Given the description of an element on the screen output the (x, y) to click on. 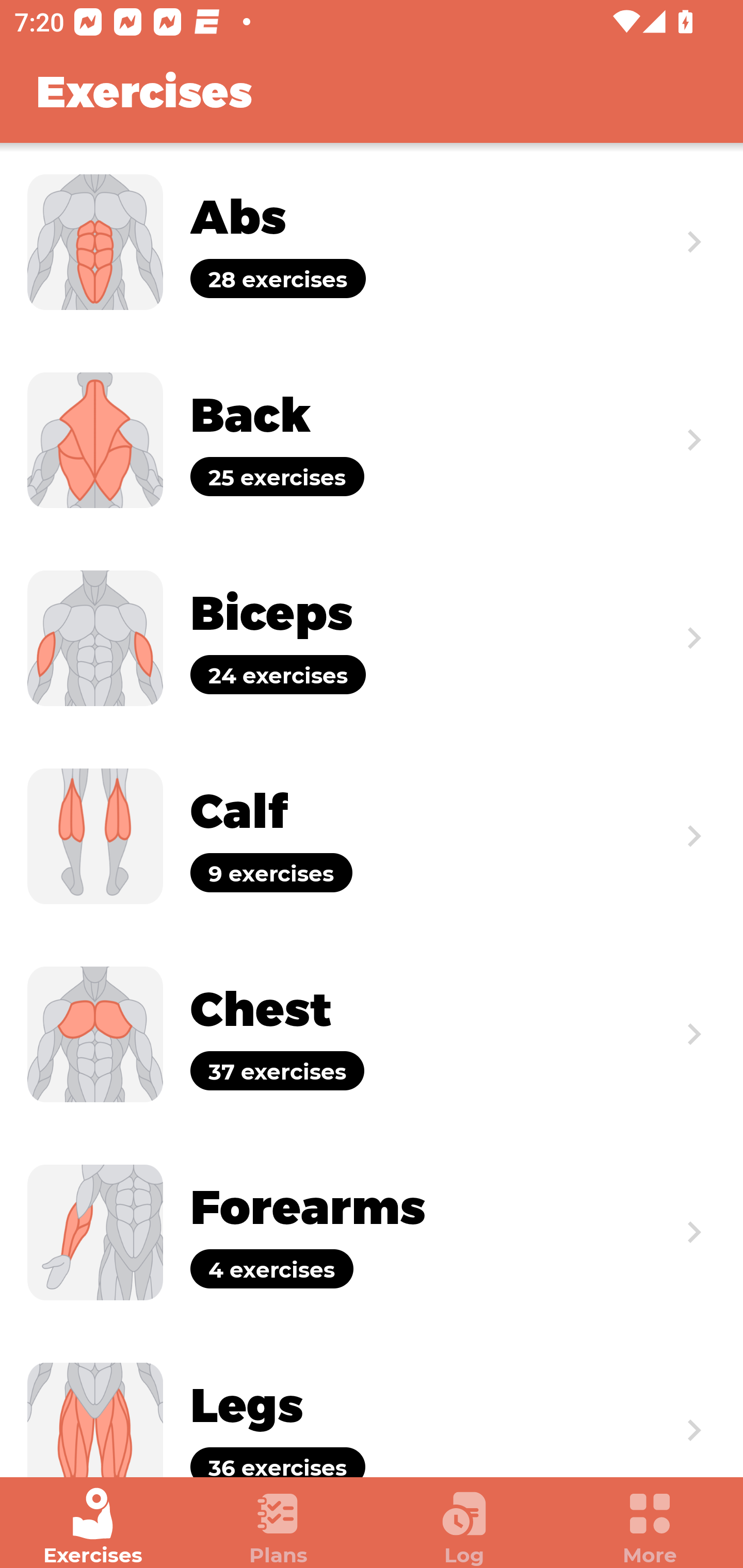
Exercise Abs 28 exercises (371, 241)
Exercise Back 25 exercises (371, 439)
Exercise Biceps 24 exercises (371, 637)
Exercise Calf 9 exercises (371, 836)
Exercise Chest 37 exercises (371, 1033)
Exercise Forearms 4 exercises (371, 1232)
Exercise Legs 36 exercises (371, 1404)
Exercises (92, 1527)
Plans (278, 1527)
Log (464, 1527)
More (650, 1527)
